Given the description of an element on the screen output the (x, y) to click on. 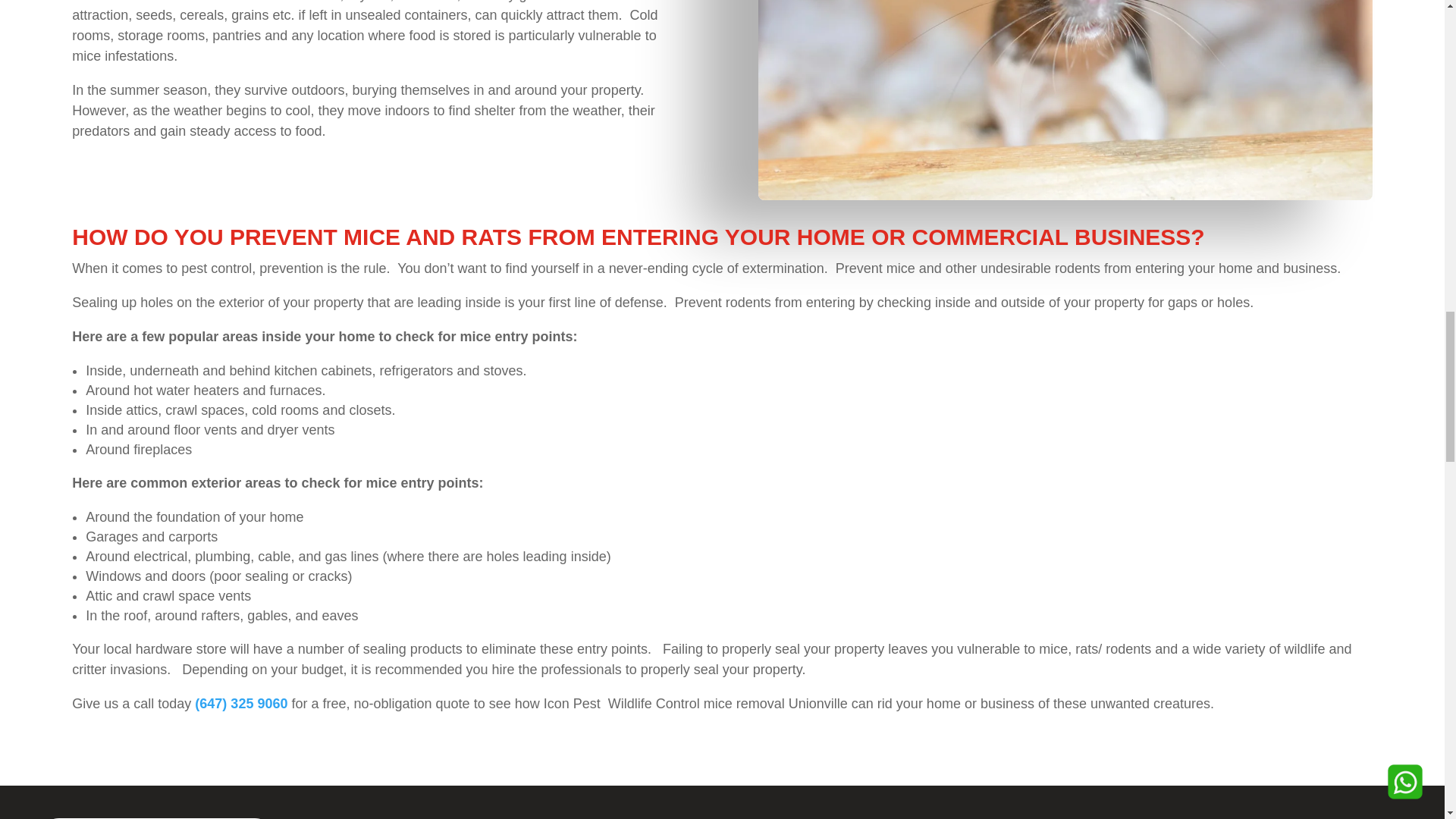
iStock-464839125-min (1065, 99)
